Given the description of an element on the screen output the (x, y) to click on. 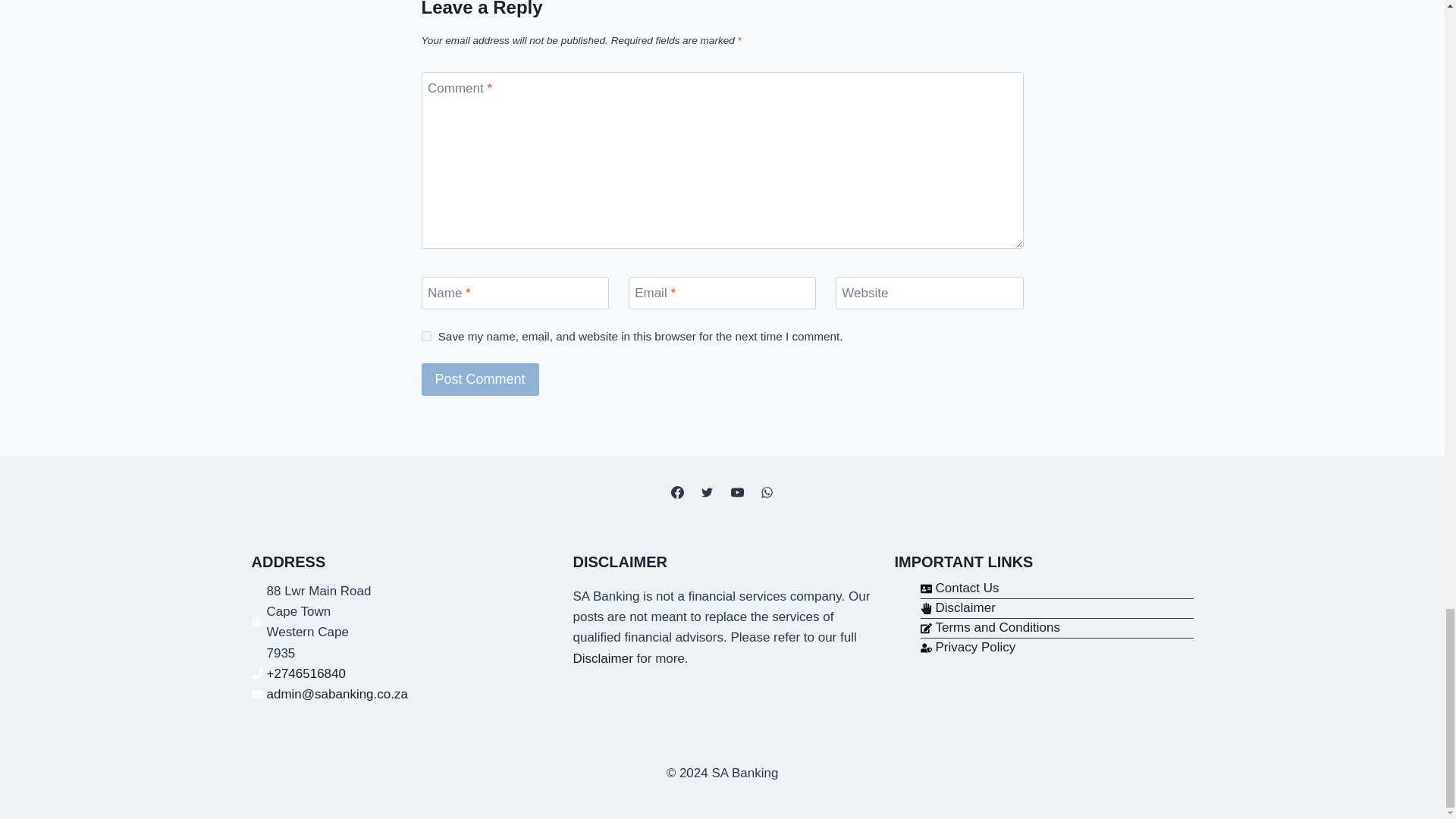
Post Comment (480, 379)
Disclaimer (957, 607)
Terms and Conditions (989, 627)
Post Comment (480, 379)
yes (426, 336)
Contact Us (959, 588)
Disclaimer (603, 658)
Privacy Policy (968, 647)
